Given the description of an element on the screen output the (x, y) to click on. 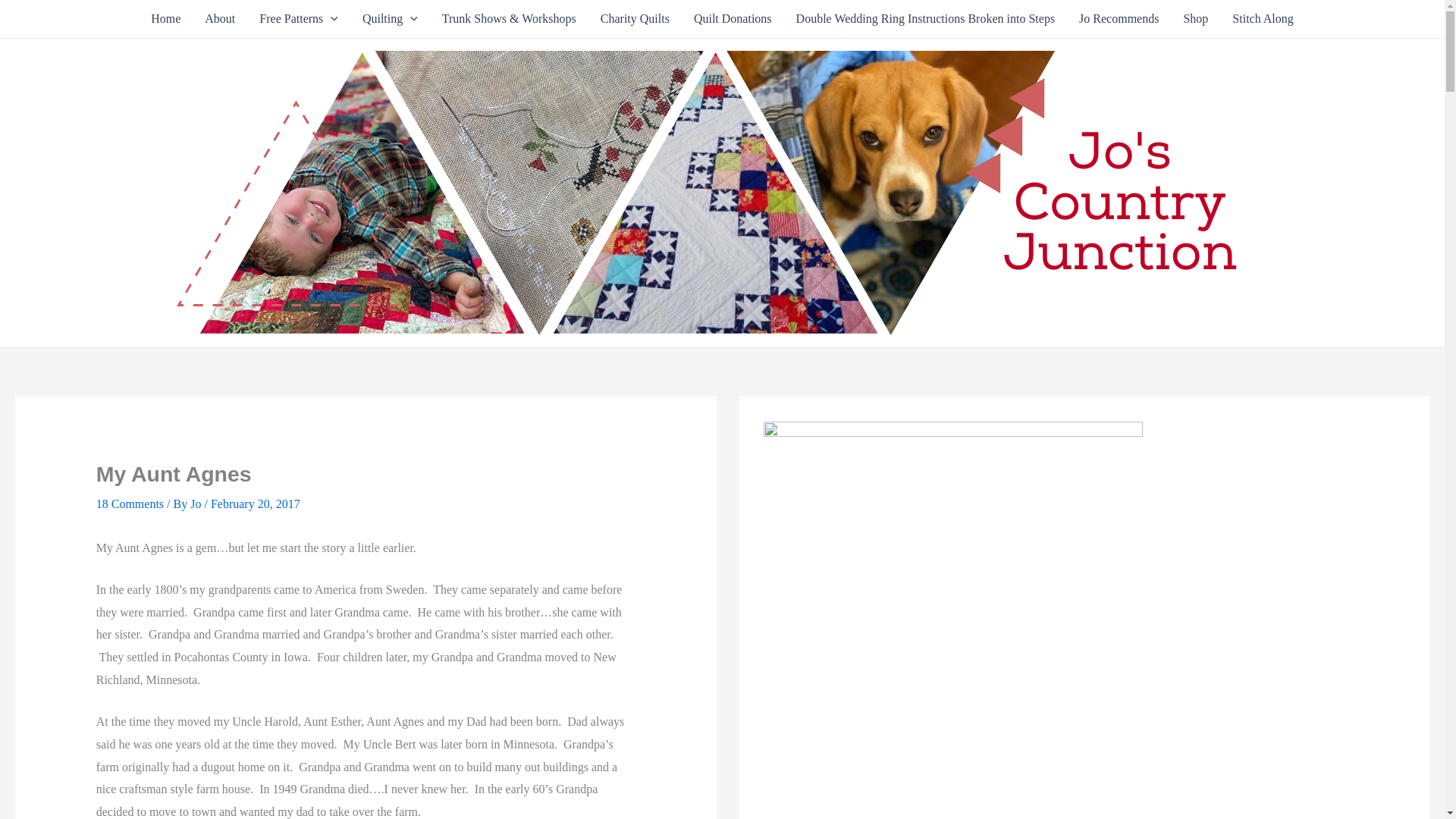
Free Patterns (298, 18)
Charity Quilts (634, 18)
Home (165, 18)
Quilting (389, 18)
About (219, 18)
View all posts by Jo (196, 503)
Quilts of 2012 (389, 18)
Quilt Donations (732, 18)
